Given the description of an element on the screen output the (x, y) to click on. 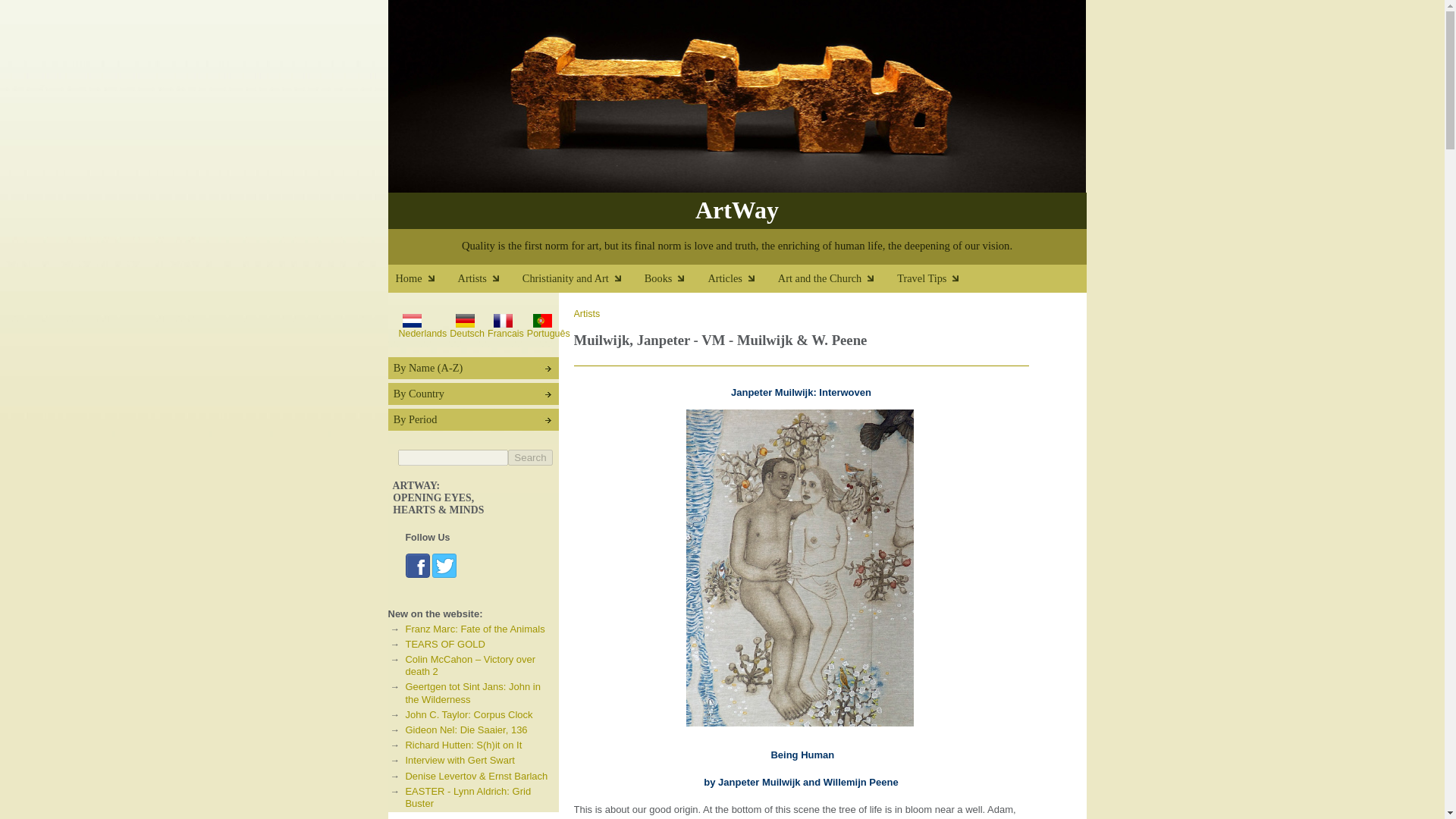
Artists (490, 281)
Click on image to view the original size (444, 565)
Click on image to view the original size (416, 565)
Articles (742, 281)
Books (676, 281)
Christianity and Art (583, 281)
Search (529, 457)
Art and the Church (836, 281)
Home (427, 281)
